Given the description of an element on the screen output the (x, y) to click on. 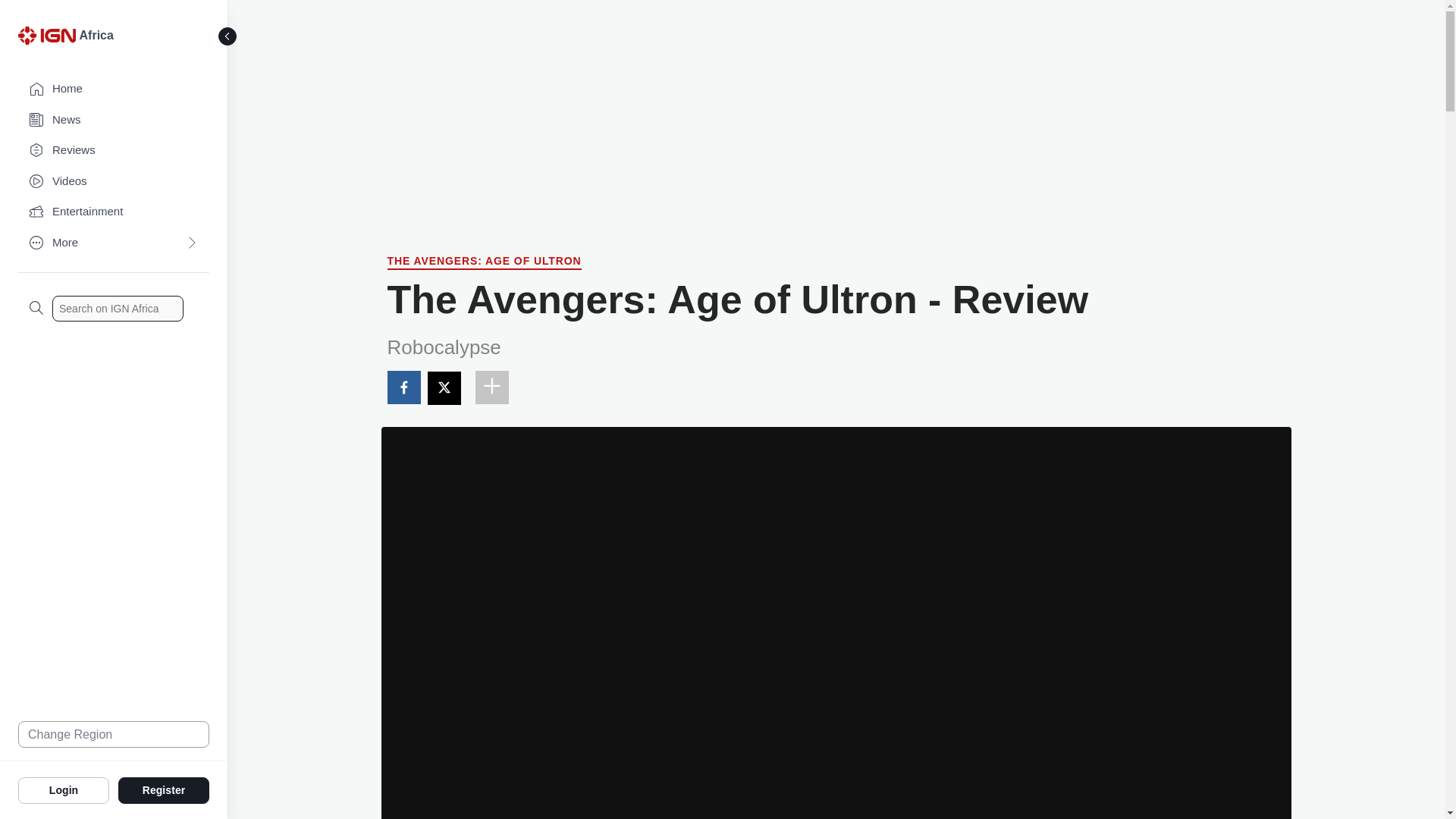
Toggle Sidebar (226, 36)
THE AVENGERS: AGE OF ULTRON (483, 262)
Register (163, 789)
Home (113, 89)
More (113, 242)
Login (63, 789)
Entertainment (113, 211)
News (113, 119)
IGN Logo (46, 34)
Videos (113, 181)
